Given the description of an element on the screen output the (x, y) to click on. 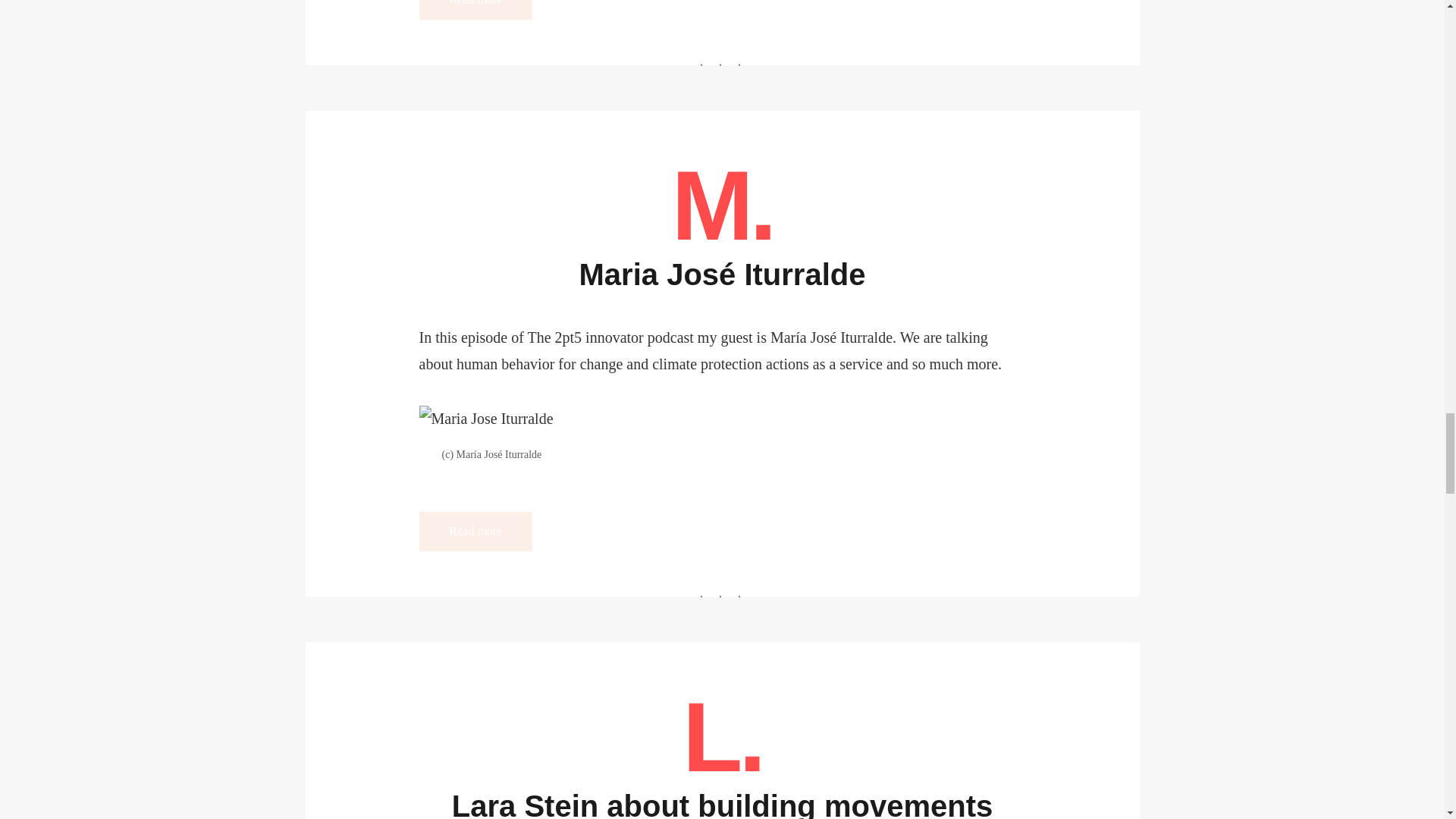
Read more (475, 9)
Read more (475, 531)
